Given the description of an element on the screen output the (x, y) to click on. 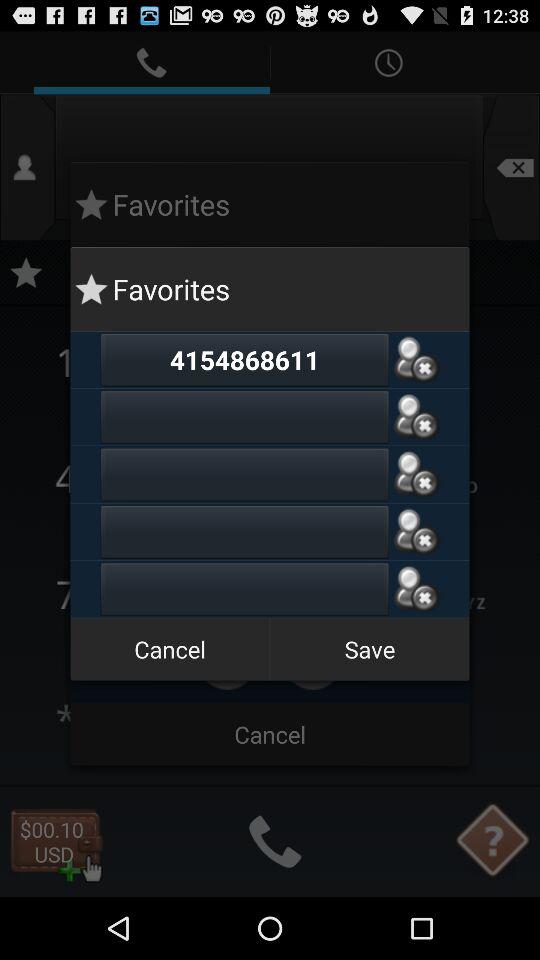
remove (416, 474)
